Given the description of an element on the screen output the (x, y) to click on. 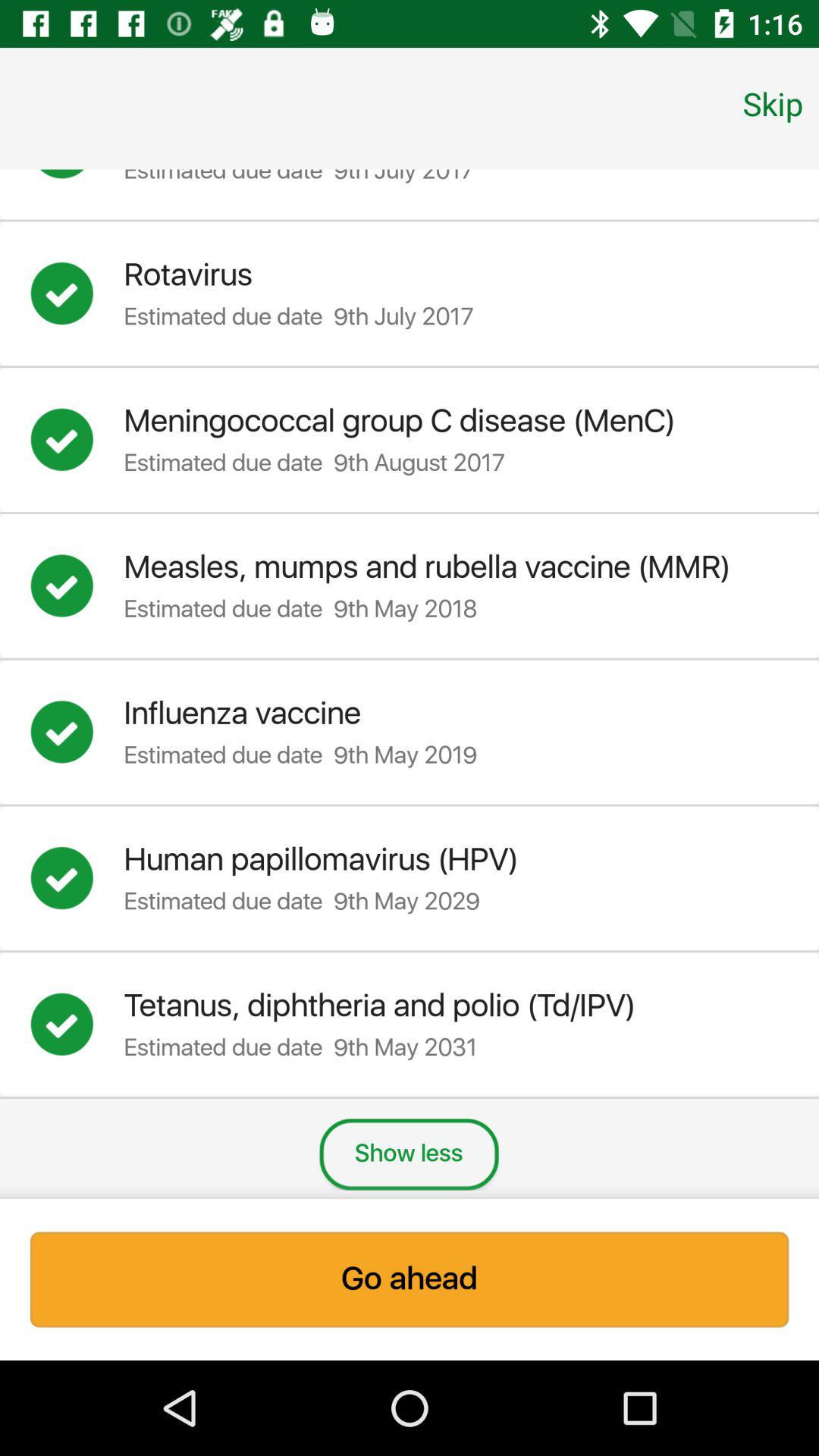
select option (76, 179)
